Given the description of an element on the screen output the (x, y) to click on. 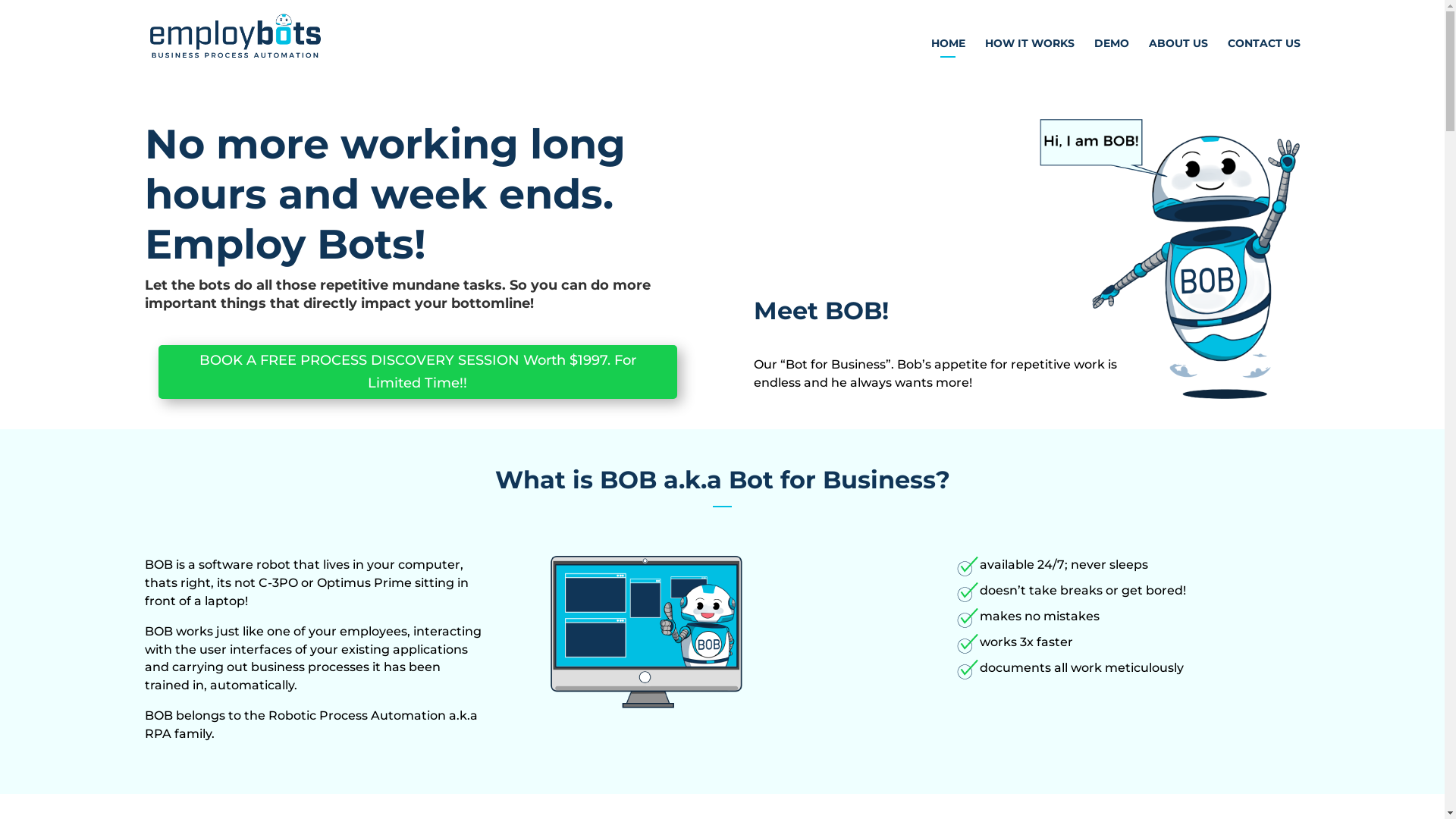
HOW IT WORKS Element type: text (1028, 46)
HOME Element type: text (948, 46)
DEMO Element type: text (1110, 46)
ABOUT US Element type: text (1177, 46)
CONTACT US Element type: text (1262, 46)
